Given the description of an element on the screen output the (x, y) to click on. 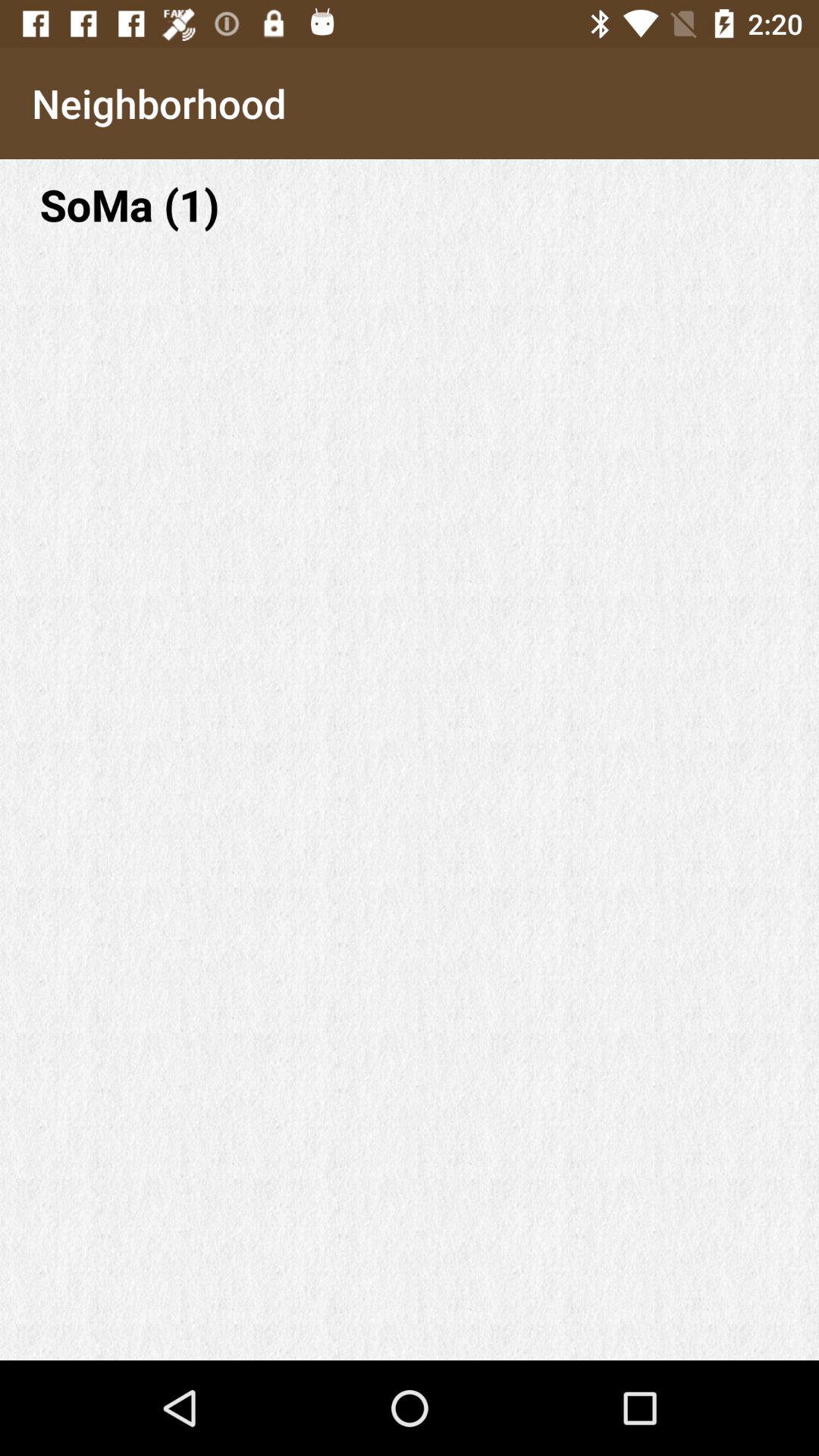
click the app below neighborhood icon (409, 204)
